Given the description of an element on the screen output the (x, y) to click on. 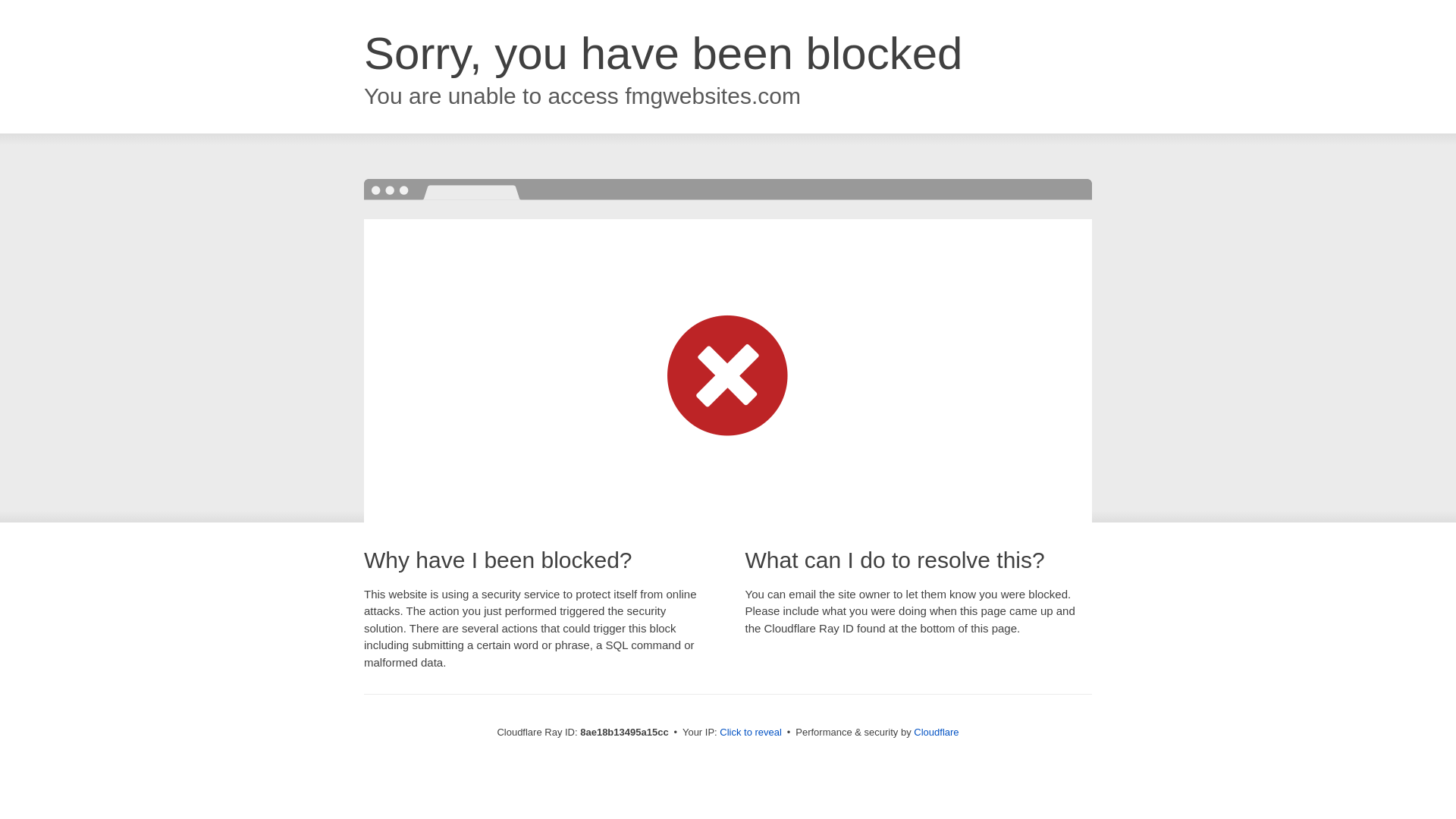
Cloudflare (936, 731)
Click to reveal (750, 732)
